Given the description of an element on the screen output the (x, y) to click on. 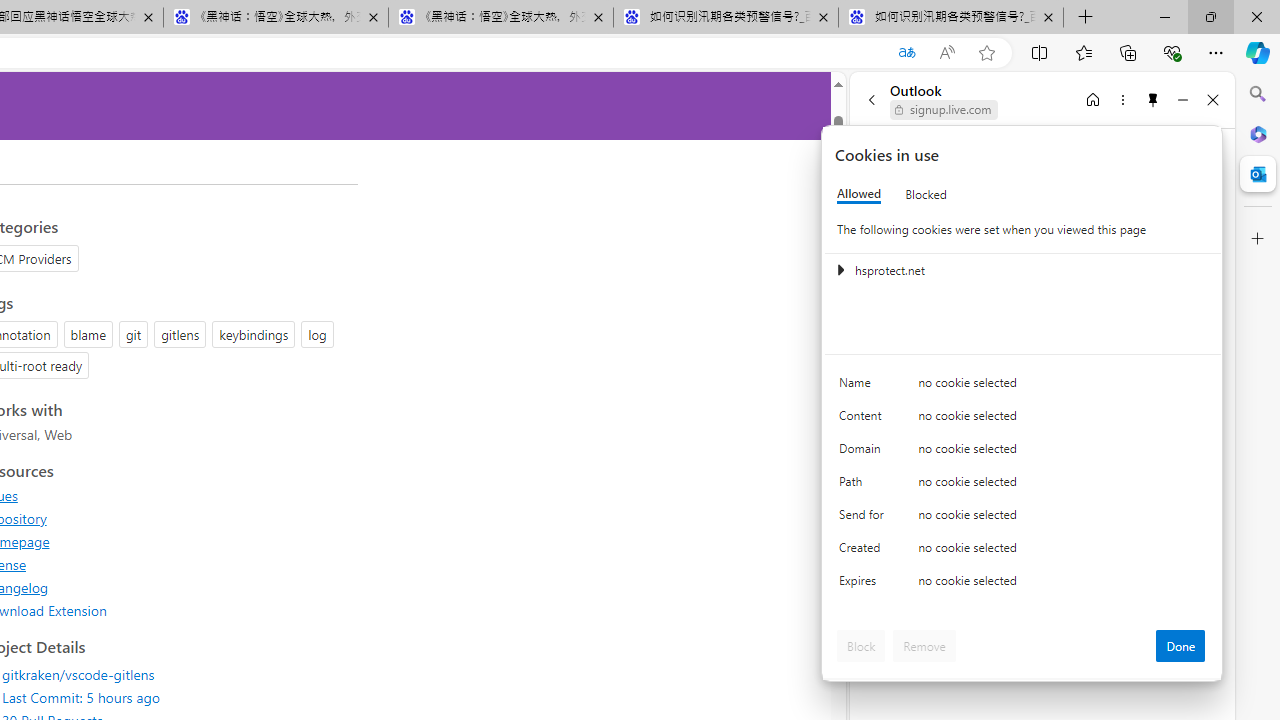
Block (861, 645)
Class: c0153 c0157 (1023, 584)
Send for (864, 518)
Class: c0153 c0157 c0154 (1023, 386)
Created (864, 552)
Blocked (925, 193)
Domain (864, 452)
Remove (924, 645)
Path (864, 485)
Allowed (859, 193)
no cookie selected (1062, 585)
Name (864, 387)
Content (864, 420)
Expires (864, 585)
Done (1179, 645)
